Given the description of an element on the screen output the (x, y) to click on. 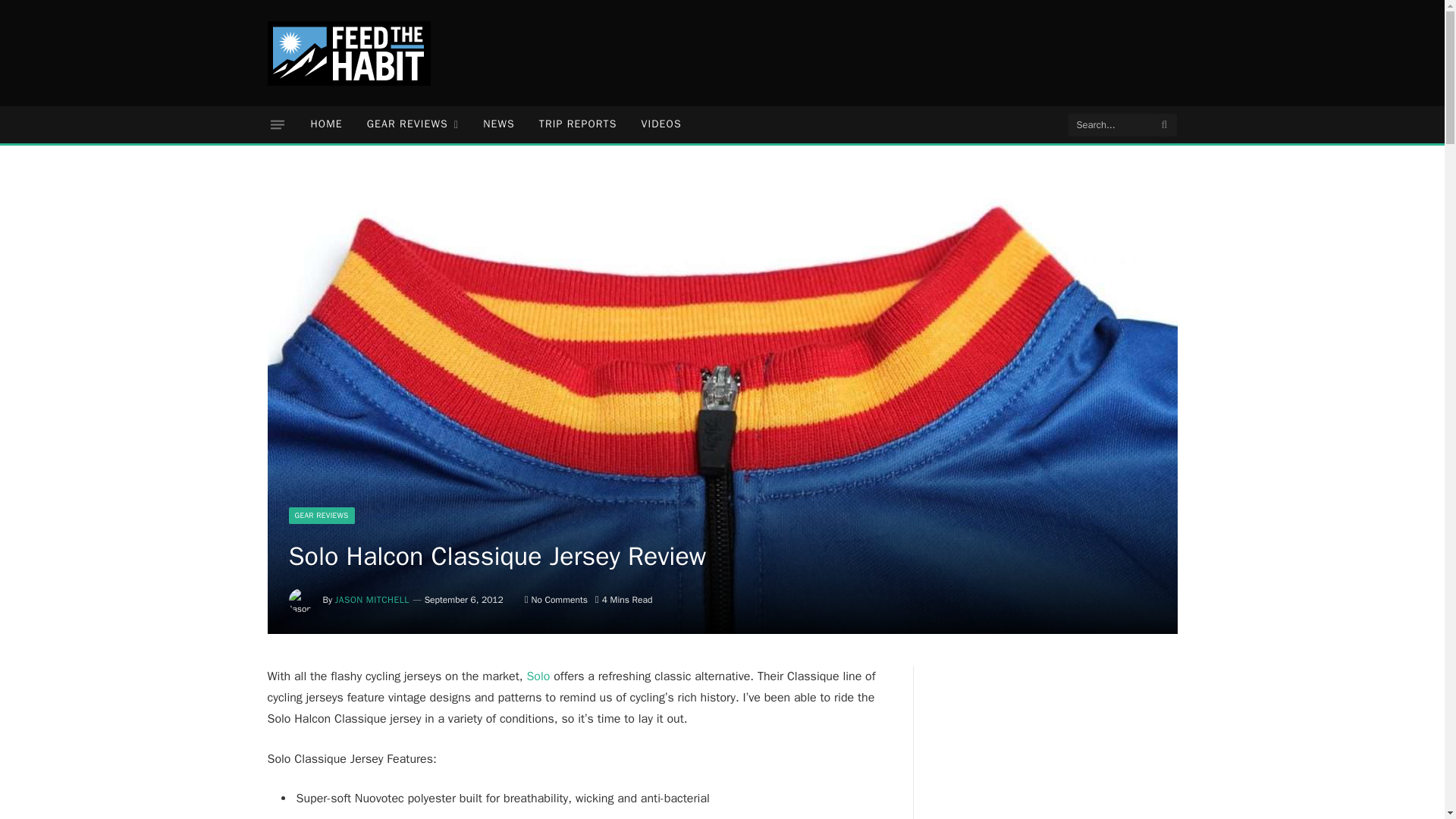
TRIP REPORTS (577, 124)
No Comments (556, 599)
FeedTheHabit.com (347, 53)
Posts by Jason Mitchell (371, 599)
GEAR REVIEWS (320, 515)
Advertisement (901, 50)
NEWS (498, 124)
JASON MITCHELL (371, 599)
VIDEOS (661, 124)
HOME (326, 124)
